Given the description of an element on the screen output the (x, y) to click on. 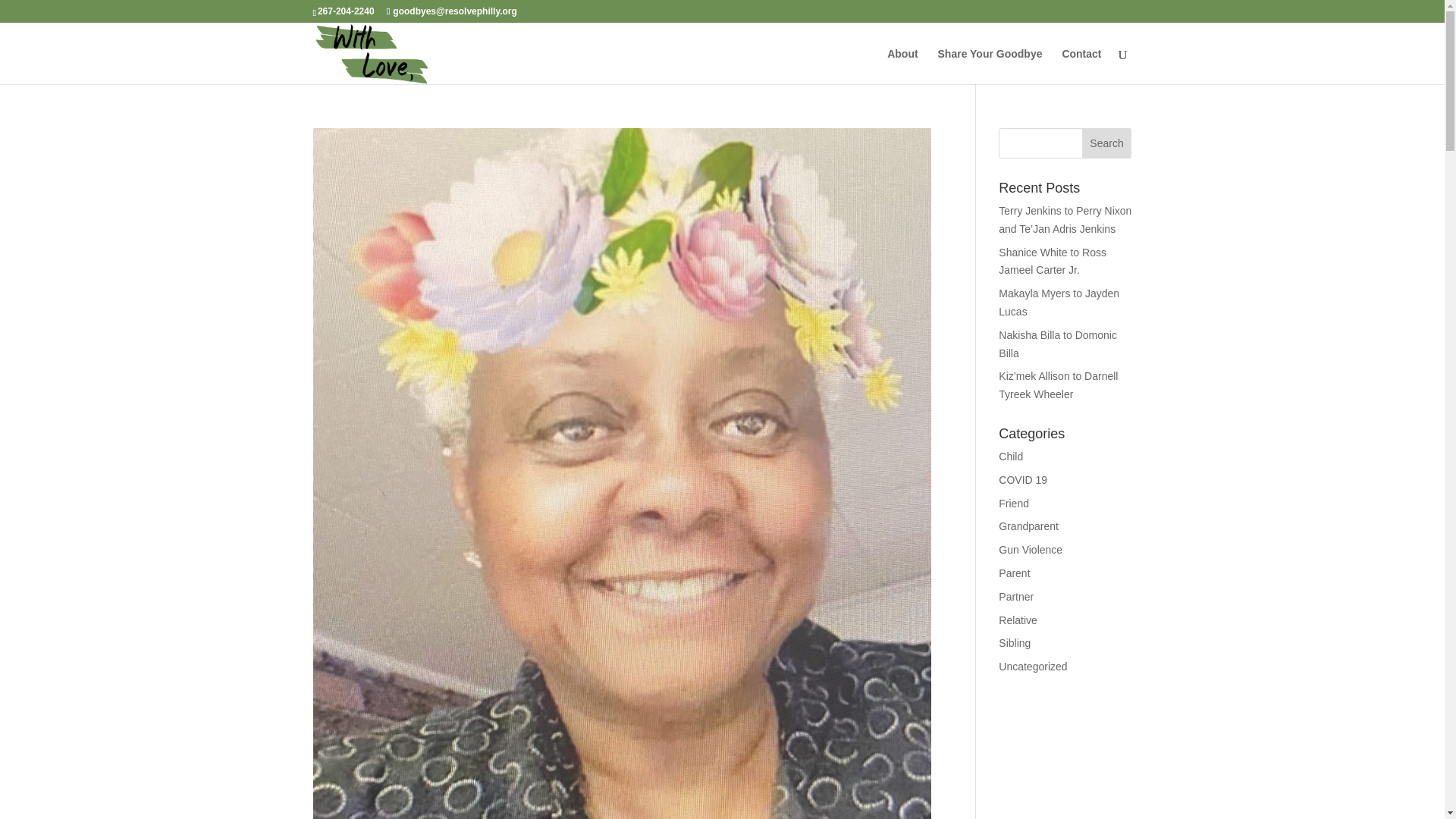
Search (1106, 142)
Partner (1015, 596)
Child (1010, 456)
Nakisha Billa to Domonic Billa (1057, 344)
Search (1106, 142)
Grandparent (1028, 526)
Shanice White to Ross Jameel Carter Jr. (1052, 261)
Share Your Goodbye (989, 66)
Uncategorized (1032, 666)
Makayla Myers to Jayden Lucas (1058, 302)
Friend (1013, 503)
Gun Violence (1030, 549)
Contact (1080, 66)
Relative (1017, 620)
Sibling (1014, 643)
